Given the description of an element on the screen output the (x, y) to click on. 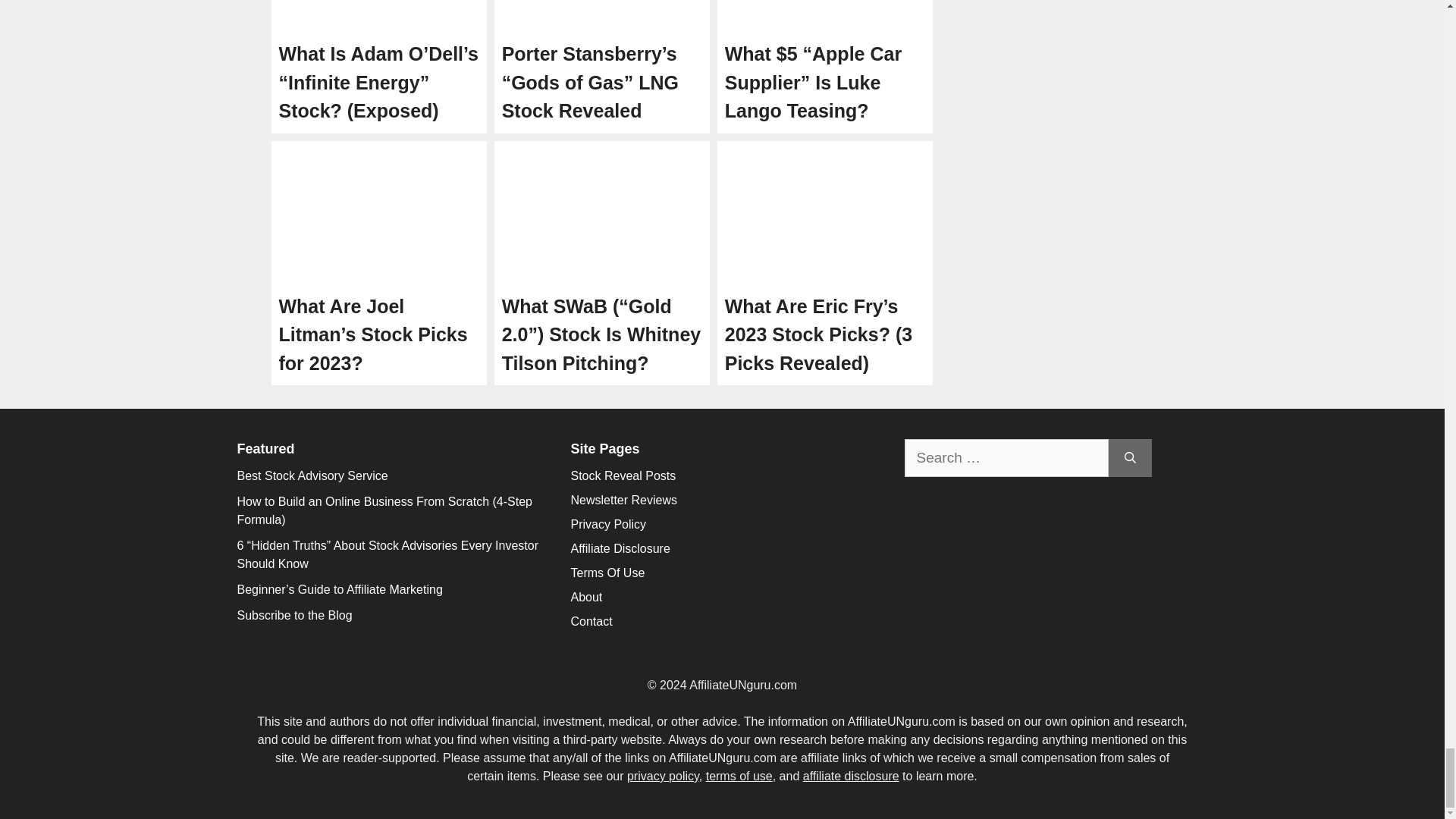
Search for: (1006, 457)
